Given the description of an element on the screen output the (x, y) to click on. 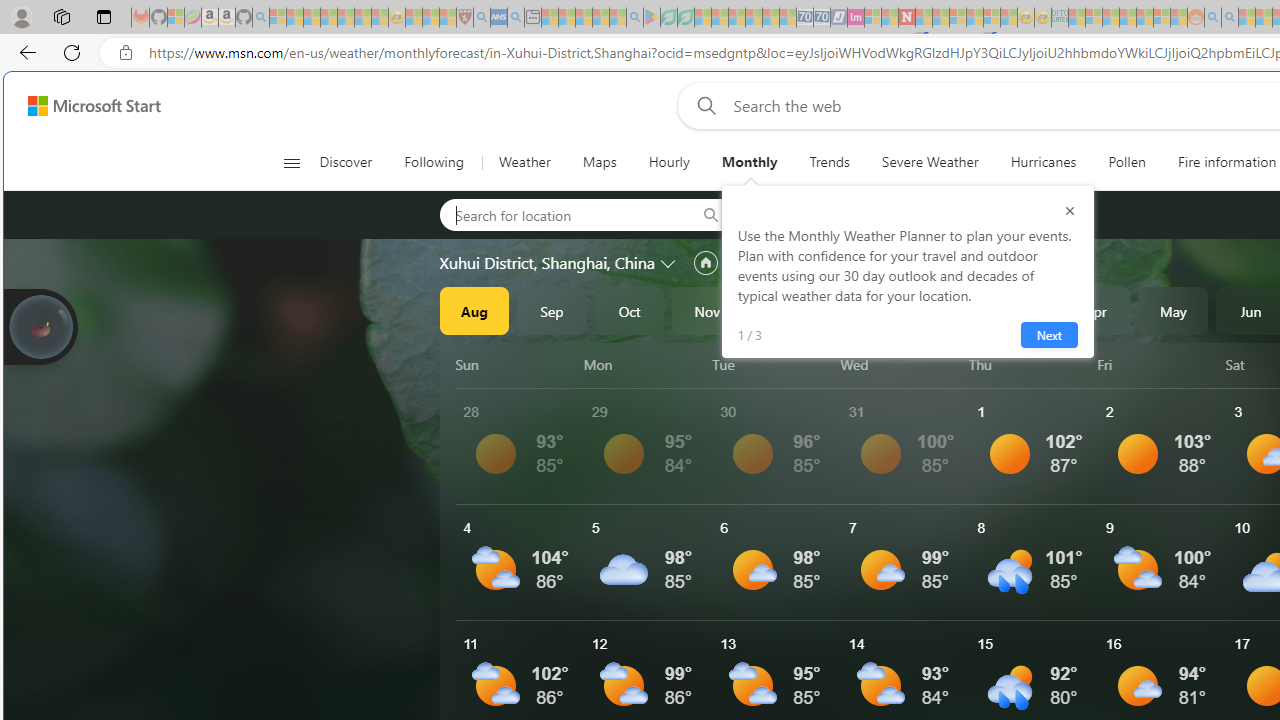
Pets - MSN - Sleeping (600, 17)
google - Search - Sleeping (634, 17)
Hourly (668, 162)
Nov (707, 310)
Skip to footer (82, 105)
Wed (900, 363)
Jobs - lastminute.com Investor Portal - Sleeping (855, 17)
